Given the description of an element on the screen output the (x, y) to click on. 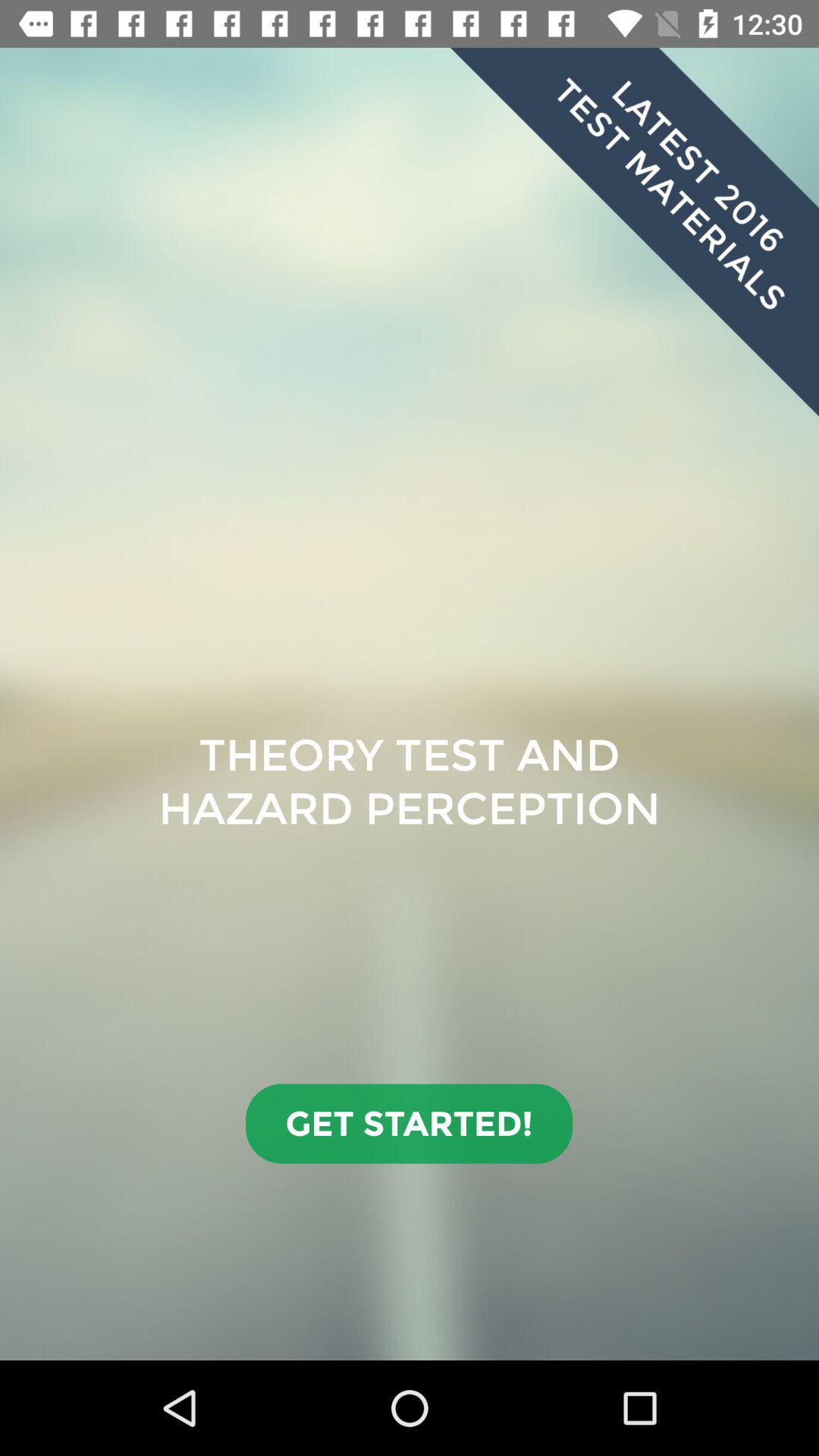
turn off the item below the theory test and (408, 1123)
